Given the description of an element on the screen output the (x, y) to click on. 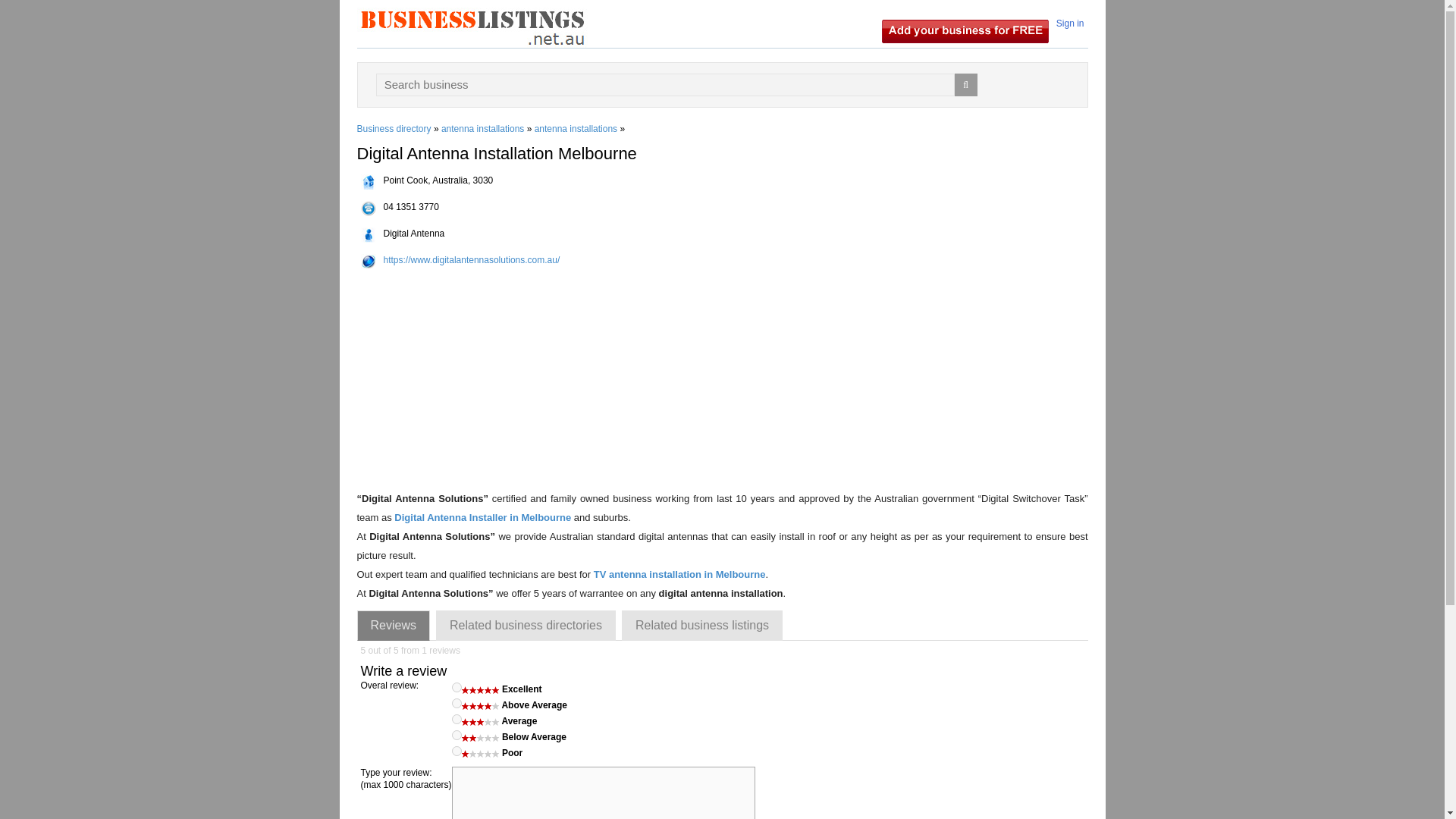
Add you business for free (964, 30)
Related business listings (702, 625)
1 (456, 750)
Digital Antenna Installer in Melbourne (482, 517)
Related business directories (525, 625)
antenna installations (482, 128)
2 (456, 735)
Business Listings (472, 27)
4 (456, 703)
Sign in (1069, 23)
Business directory (393, 128)
TV antenna installation in Melbourne (679, 573)
3 (456, 718)
Reviews (392, 625)
